Given the description of an element on the screen output the (x, y) to click on. 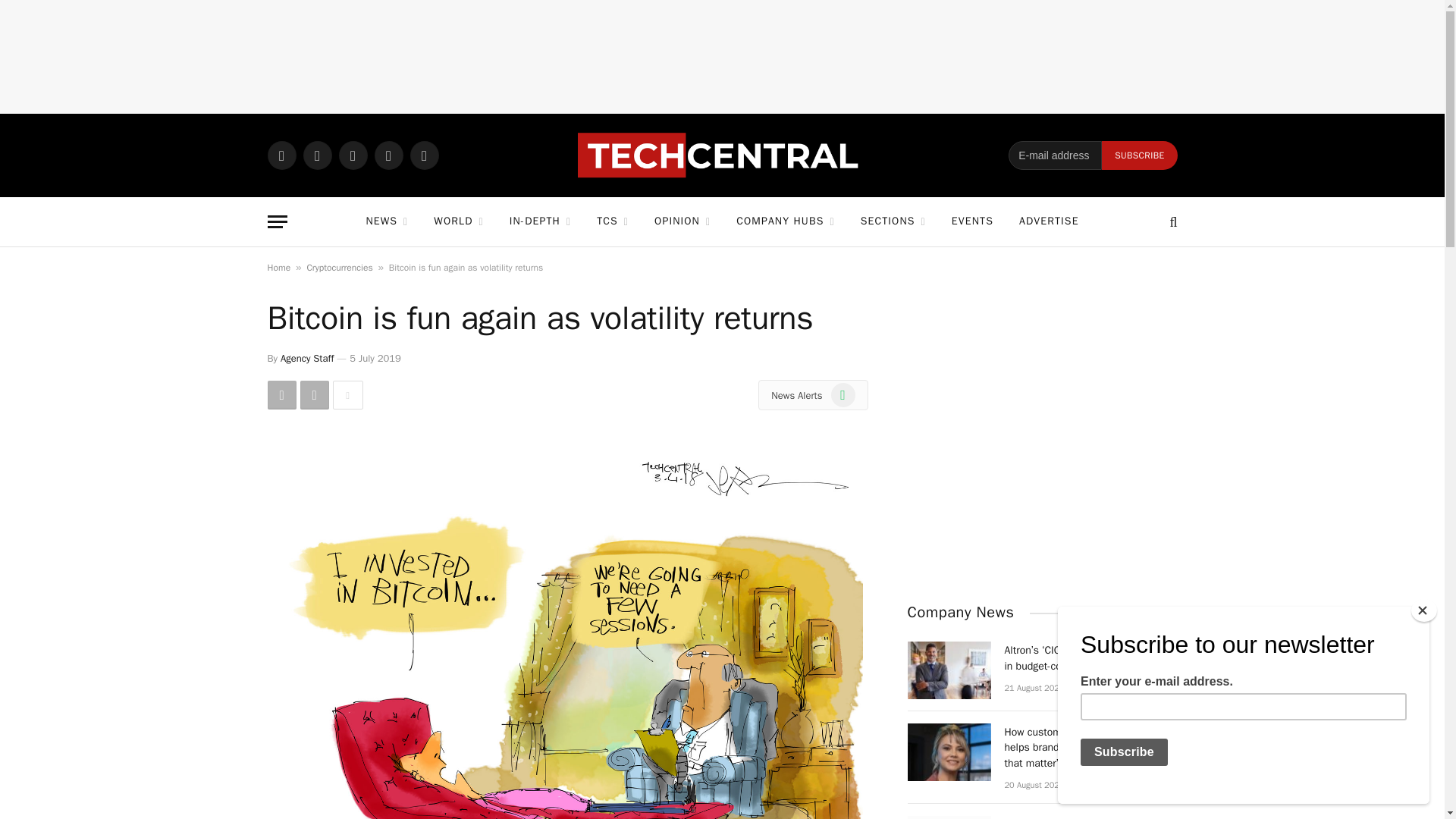
3rd party ad content (722, 56)
NEWS (386, 221)
Facebook (316, 154)
Subscribe (1139, 154)
TechCentral (722, 155)
YouTube (423, 154)
Subscribe (1139, 154)
LinkedIn (388, 154)
WORLD (458, 221)
IN-DEPTH (539, 221)
